Given the description of an element on the screen output the (x, y) to click on. 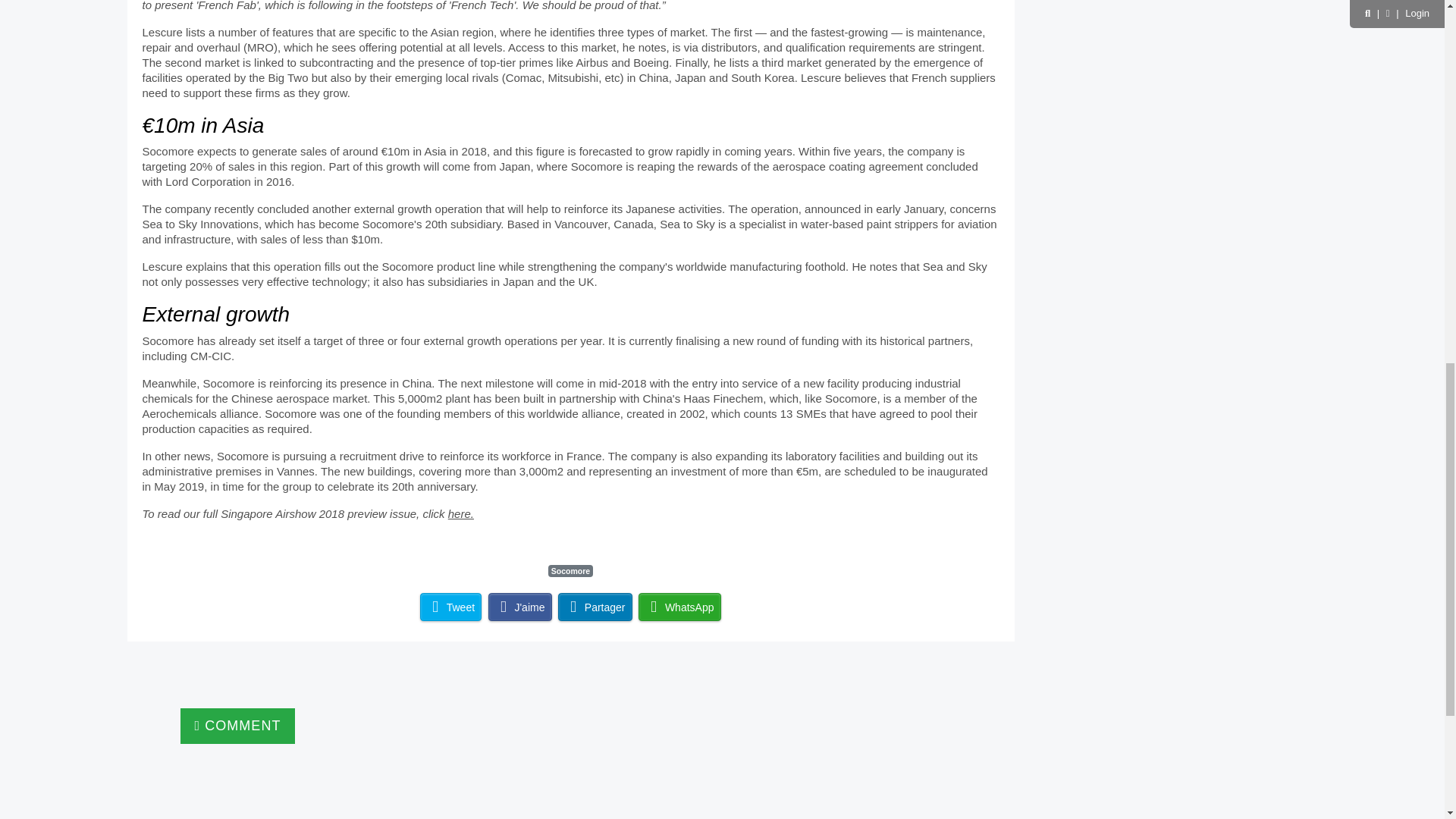
WhatsApp (679, 606)
Socomore (571, 571)
J'aime (519, 606)
Tweet (450, 606)
COMMENT (237, 725)
Partager (594, 606)
here. (461, 513)
